Given the description of an element on the screen output the (x, y) to click on. 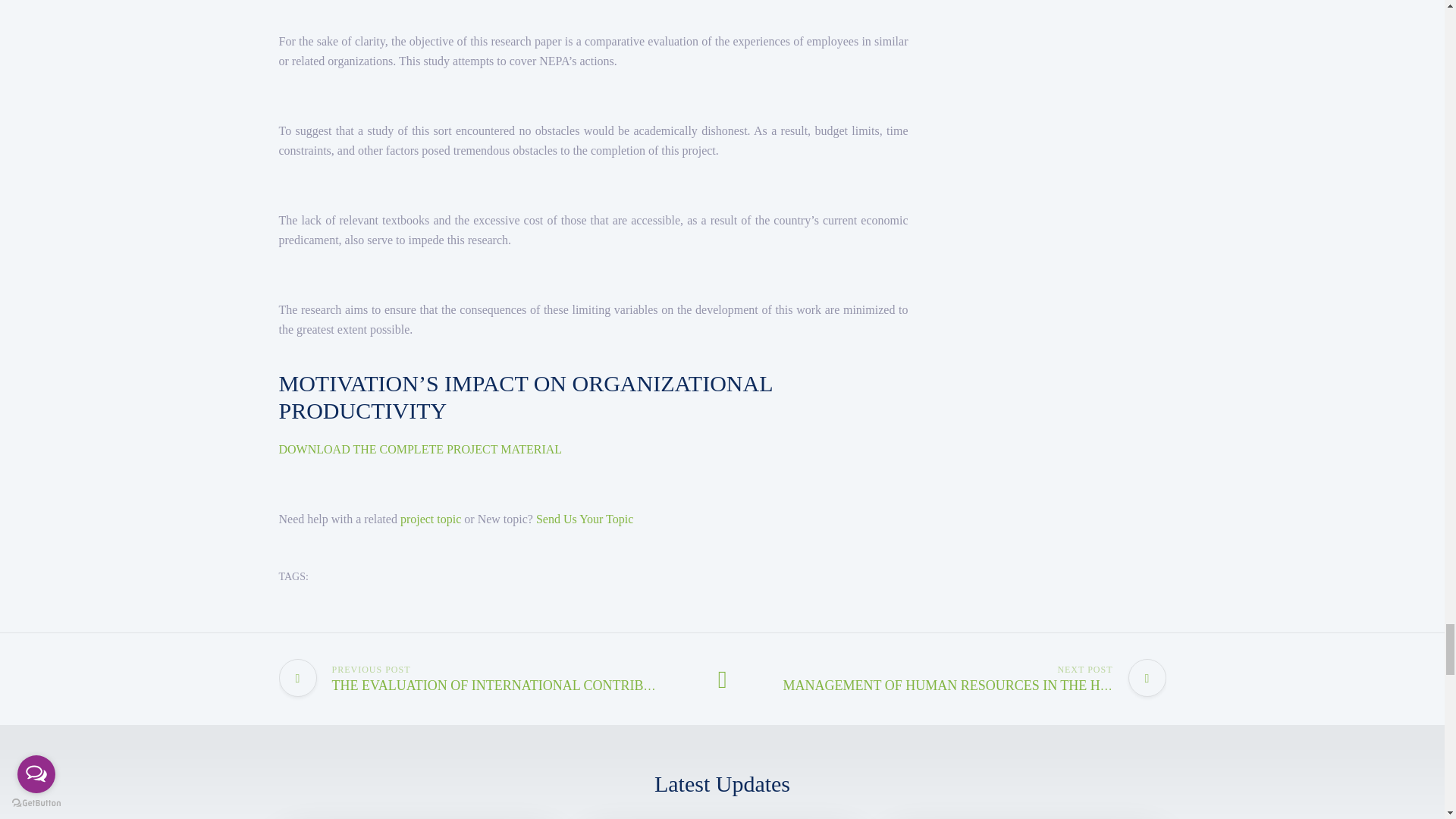
project topic (430, 518)
DOWNLOAD THE COMPLETE PROJECT MATERIAL (420, 449)
Send Us Your Topic (584, 518)
